Given the description of an element on the screen output the (x, y) to click on. 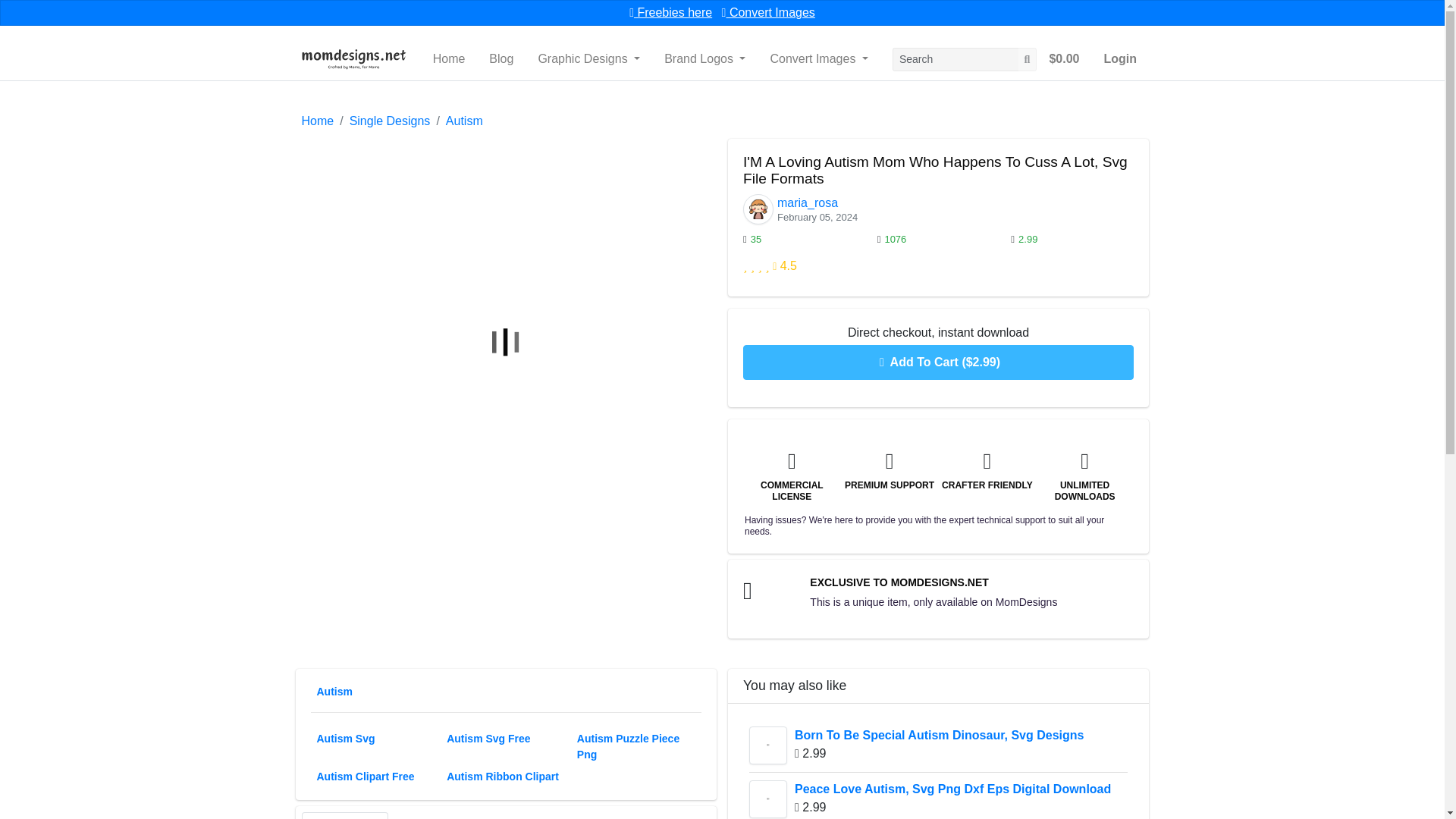
Convert Images (768, 11)
Home (448, 59)
Peace Love Autism, Svg Png Dxf Eps Digital Download (768, 799)
Blog (501, 59)
Born To Be Special Autism Dinosaur, Svg Designs (768, 745)
Graphic Designs (588, 59)
Freebies here (669, 11)
